Given the description of an element on the screen output the (x, y) to click on. 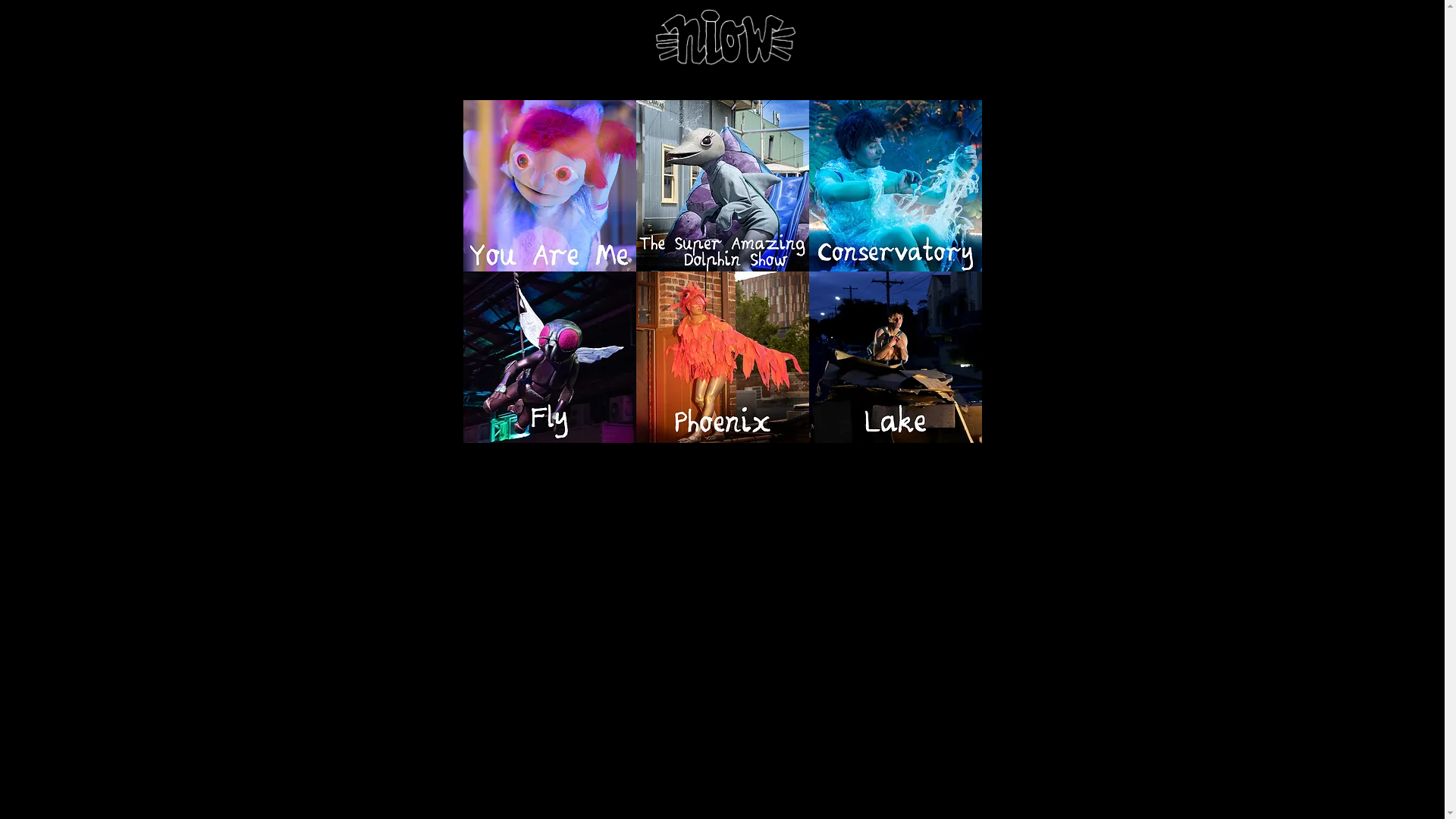
niow home Element type: hover (721, 39)
